Given the description of an element on the screen output the (x, y) to click on. 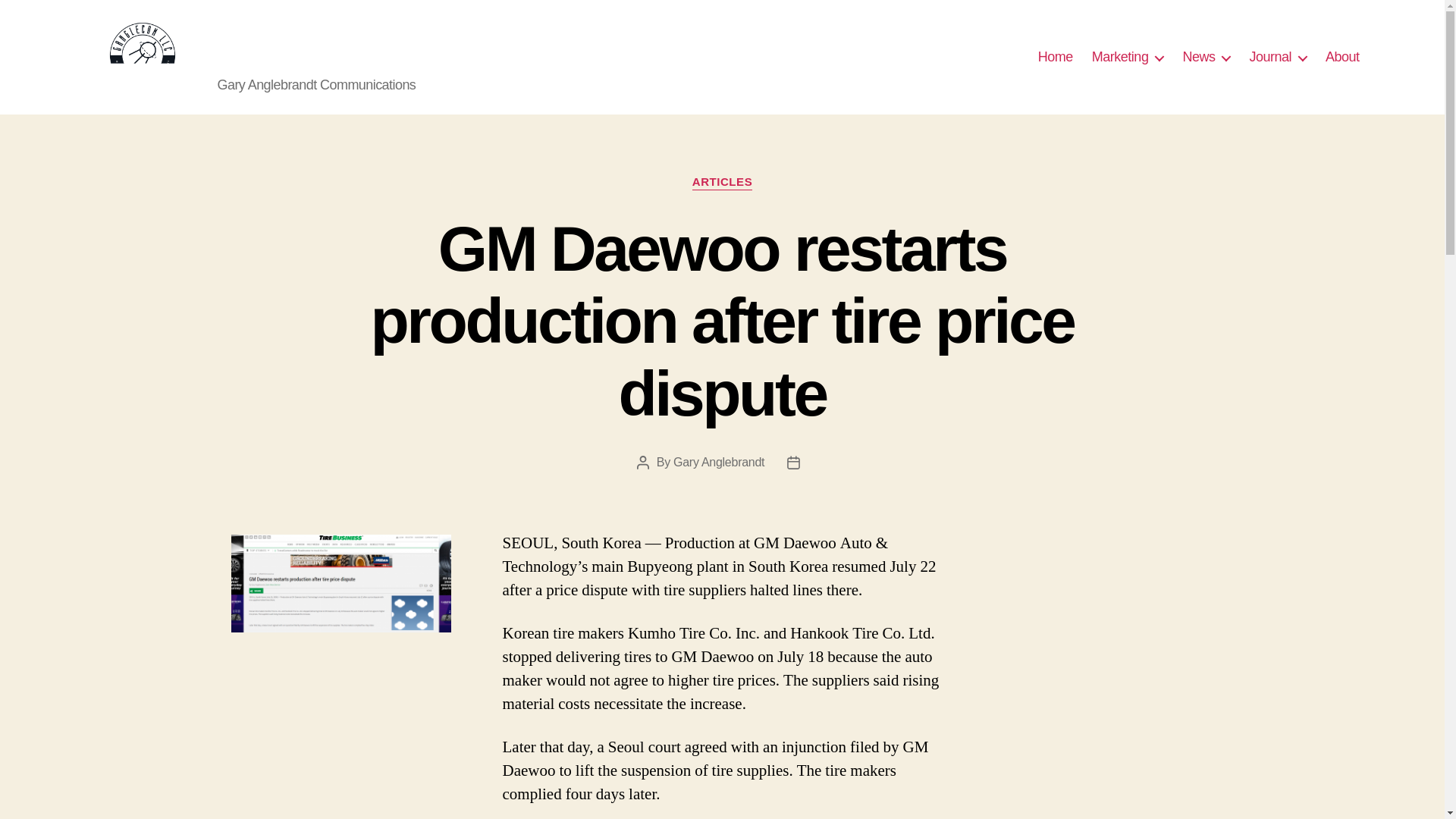
Marketing (1127, 57)
Journal (1277, 57)
News (1206, 57)
Home (1055, 57)
About (1341, 57)
